Given the description of an element on the screen output the (x, y) to click on. 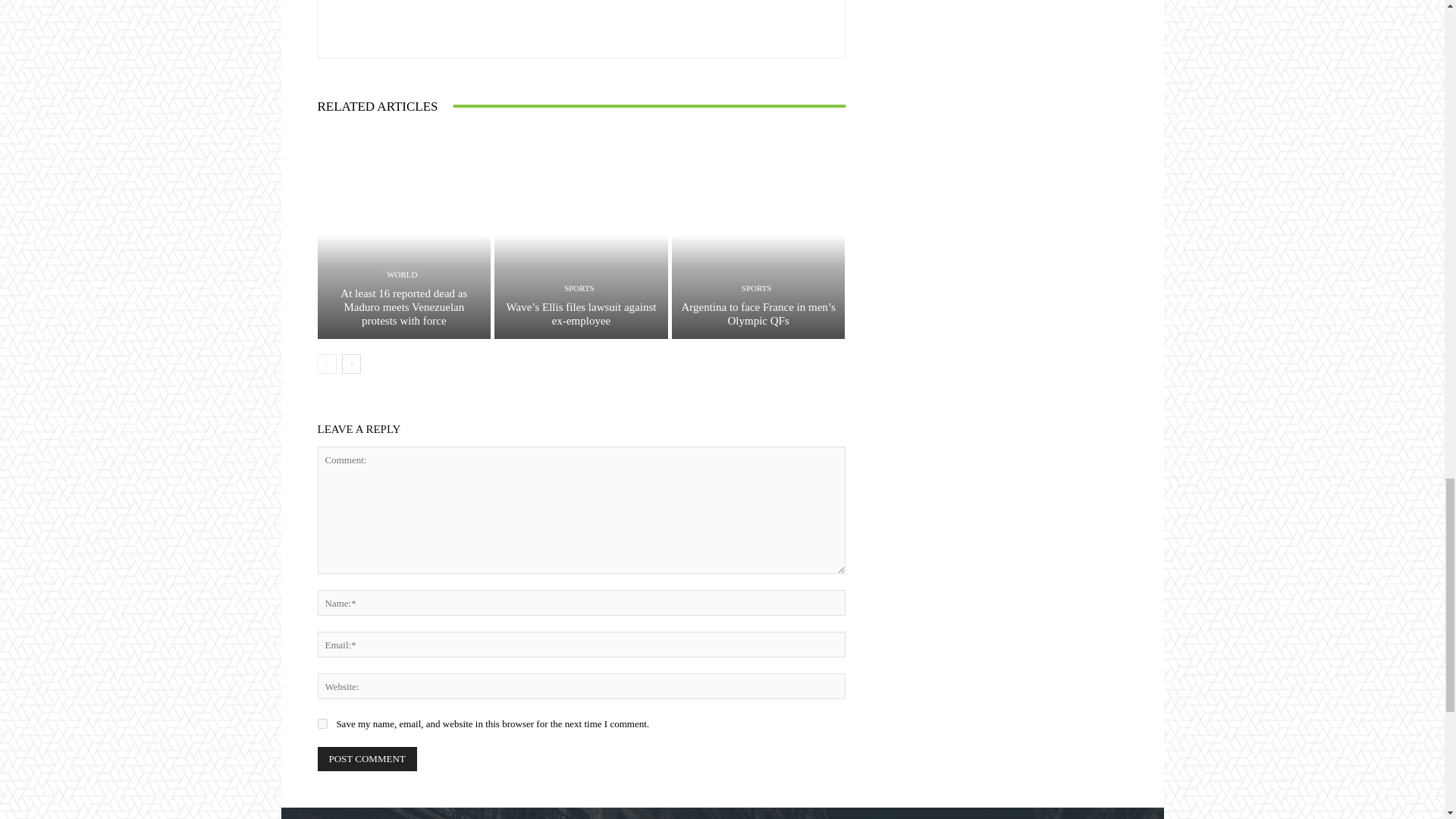
yes (321, 723)
News (523, 21)
Post Comment (366, 758)
